Given the description of an element on the screen output the (x, y) to click on. 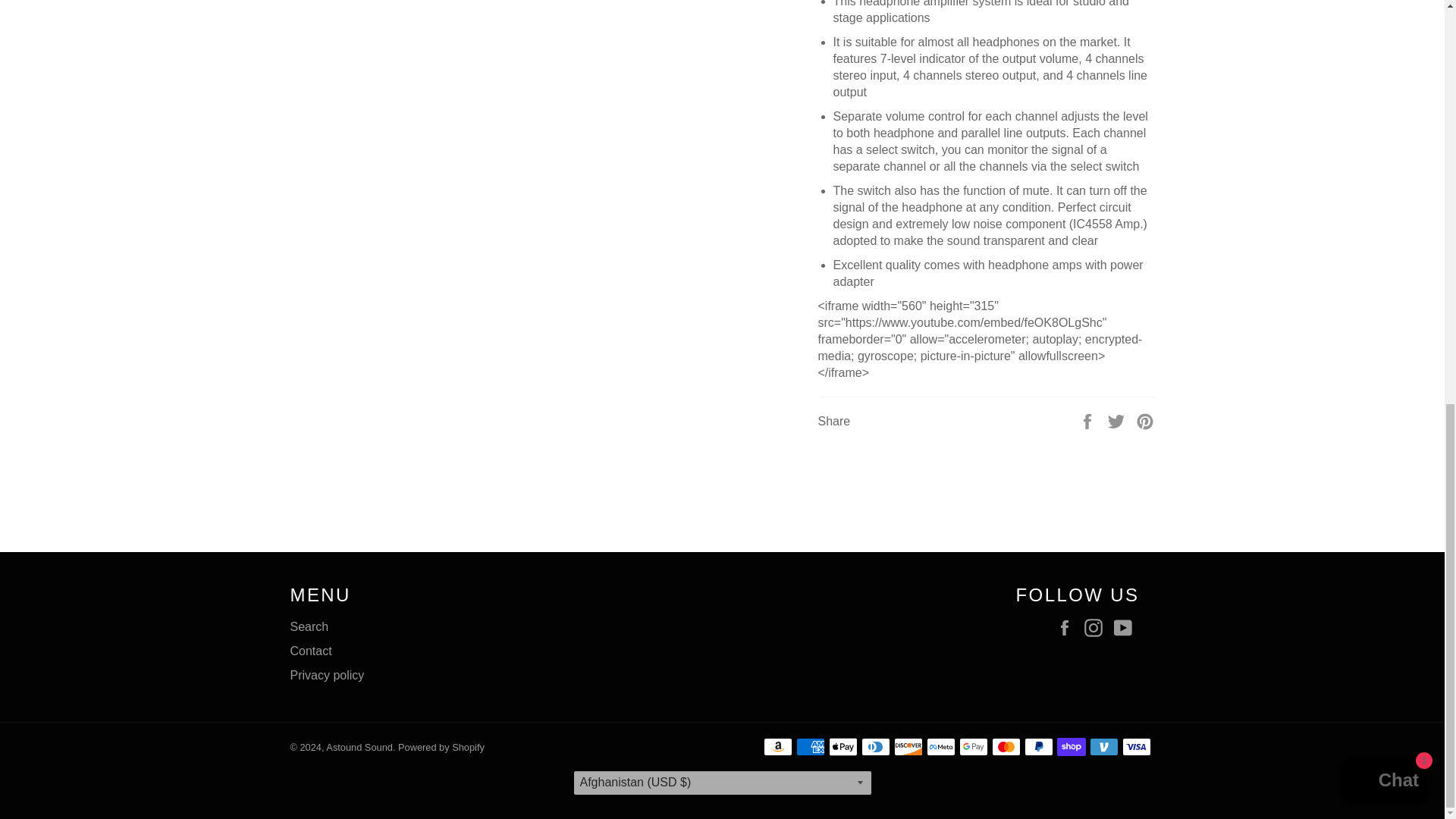
Astound Sound on Facebook (1068, 628)
Tweet on Twitter (1117, 420)
Astound Sound on Instagram (1096, 628)
Share on Facebook (1088, 420)
Shopify online store chat (1383, 4)
Pin on Pinterest (1144, 420)
Astound Sound on YouTube (1125, 628)
